Given the description of an element on the screen output the (x, y) to click on. 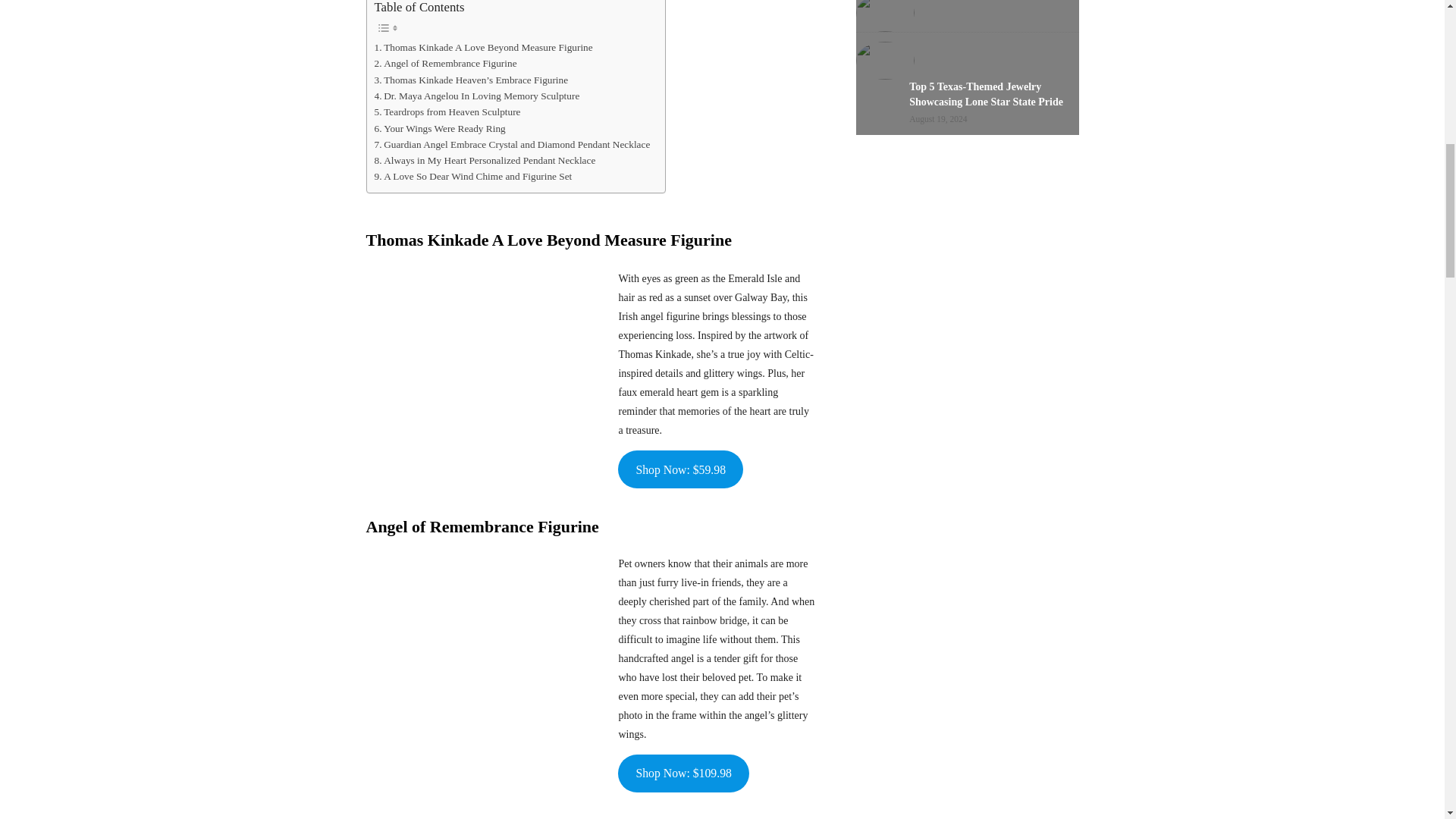
Angel of Remembrance Figurine (445, 63)
Always in My Heart Personalized Pendant Necklace (484, 160)
A Love So Dear Wind Chime and Figurine Set (473, 176)
Your Wings Were Ready Ring (439, 128)
A Love So Dear Wind Chime and Figurine Set (473, 176)
Thomas Kinkade A Love Beyond Measure Figurine (483, 47)
Thomas Kinkade A Love Beyond Measure Figurine (483, 47)
Your Wings Were Ready Ring (439, 128)
Dr. Maya Angelou In Loving Memory Sculpture (476, 95)
Teardrops from Heaven Sculpture (447, 111)
